Given the description of an element on the screen output the (x, y) to click on. 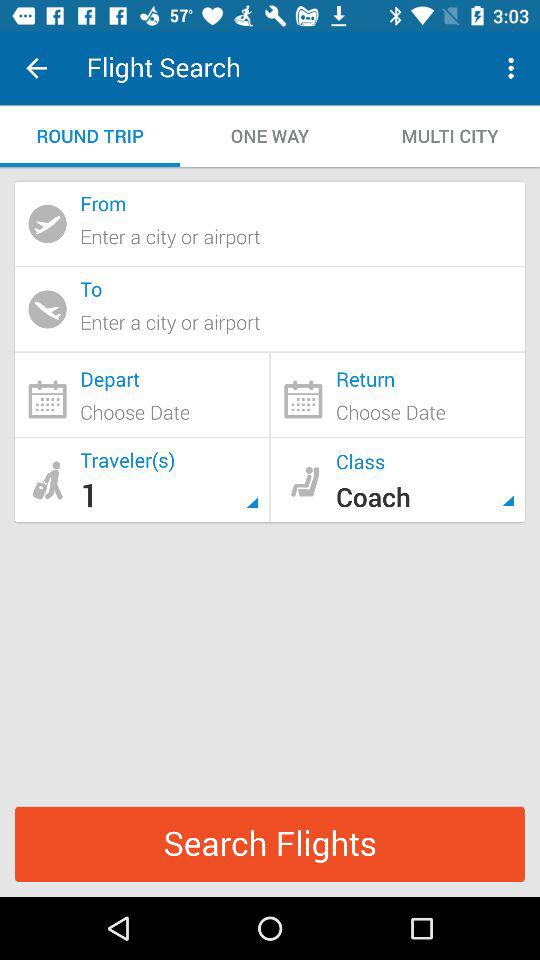
press the item to the right of round trip icon (270, 136)
